Given the description of an element on the screen output the (x, y) to click on. 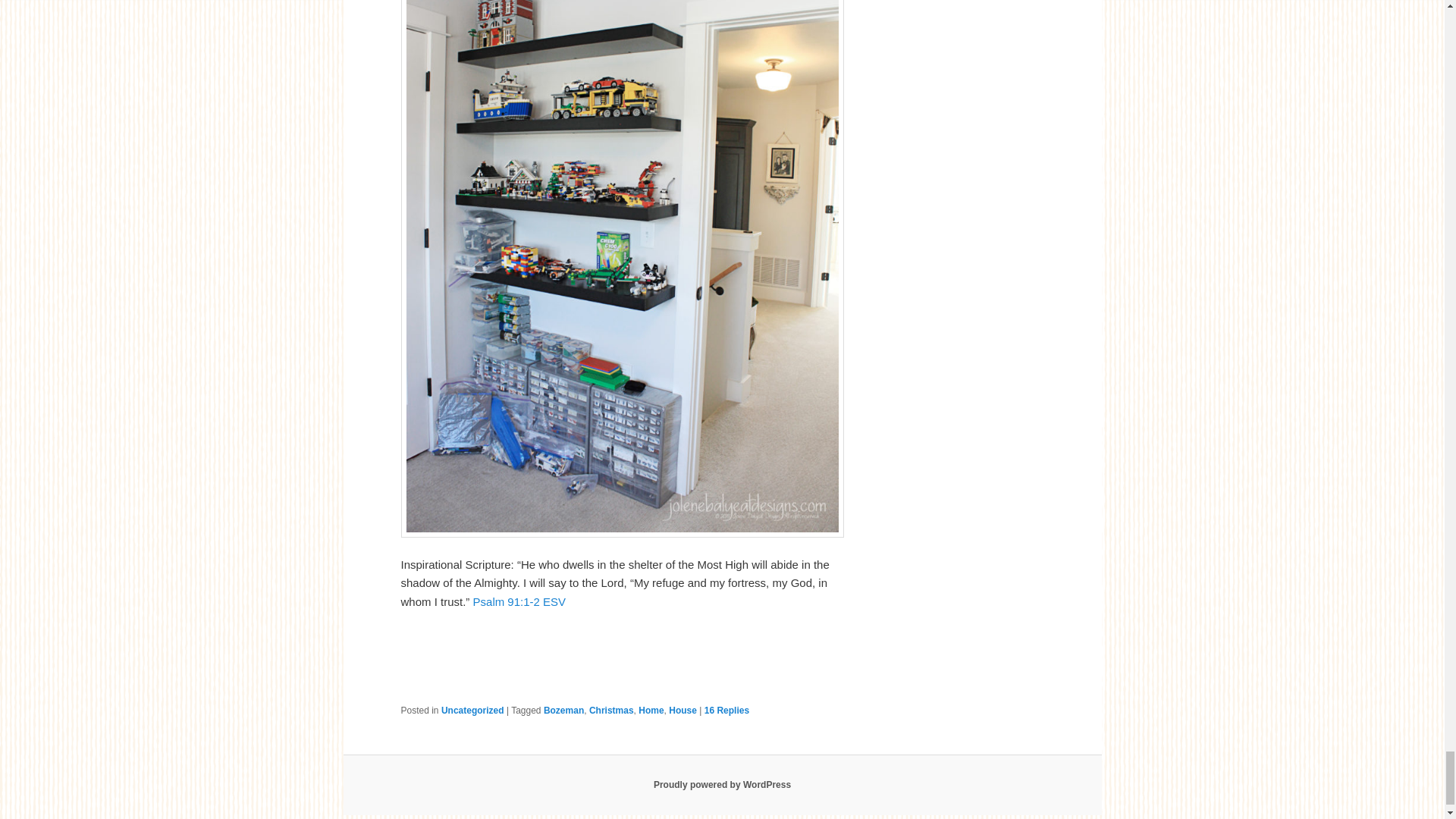
House (682, 710)
Bozeman (563, 710)
Semantic Personal Publishing Platform (721, 784)
Christmas (611, 710)
Psalm 91:1-2 ESV (519, 601)
16 Replies (726, 710)
Uncategorized (472, 710)
Home (651, 710)
